Given the description of an element on the screen output the (x, y) to click on. 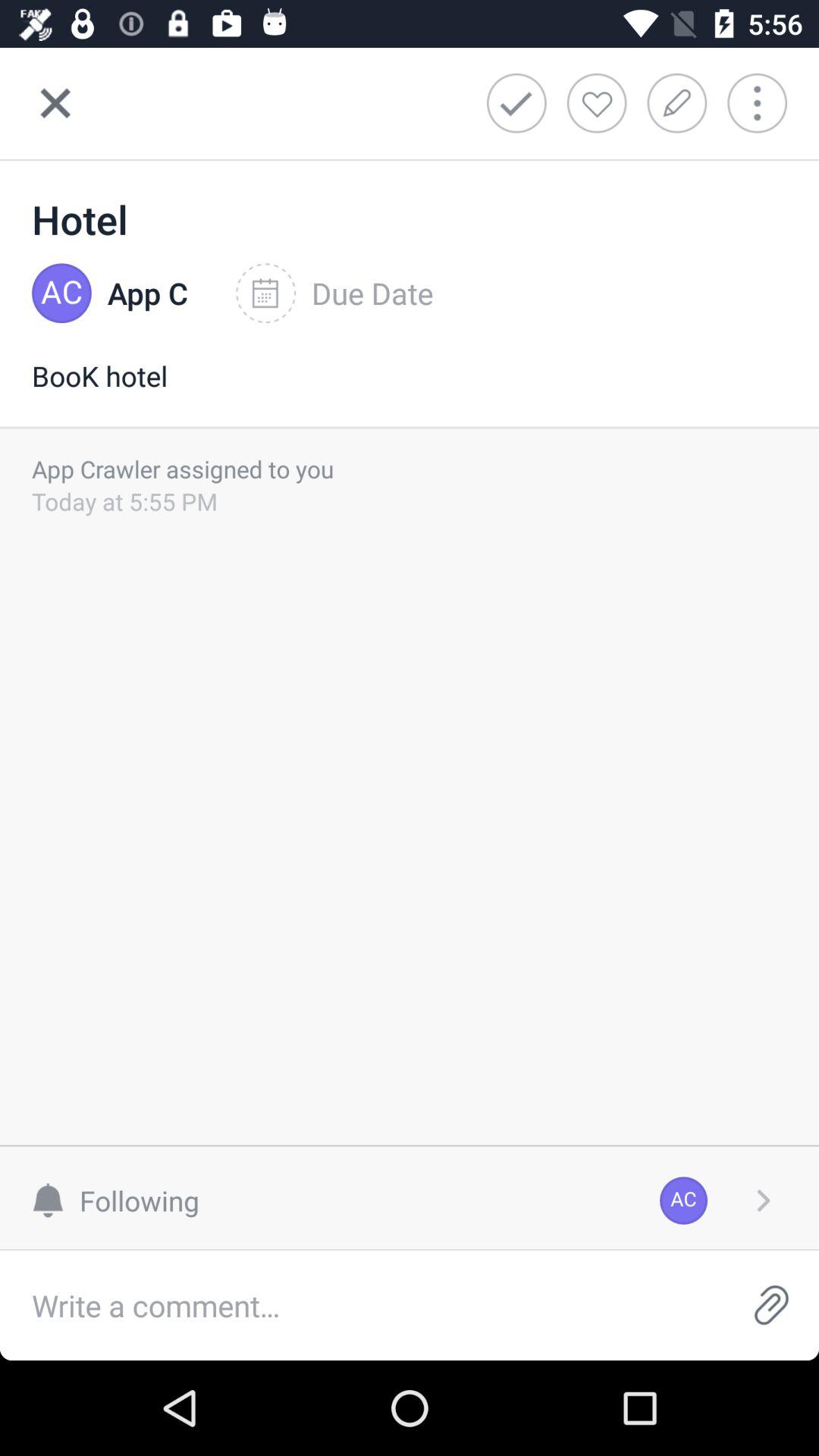
press the icon next to app c item (334, 293)
